Given the description of an element on the screen output the (x, y) to click on. 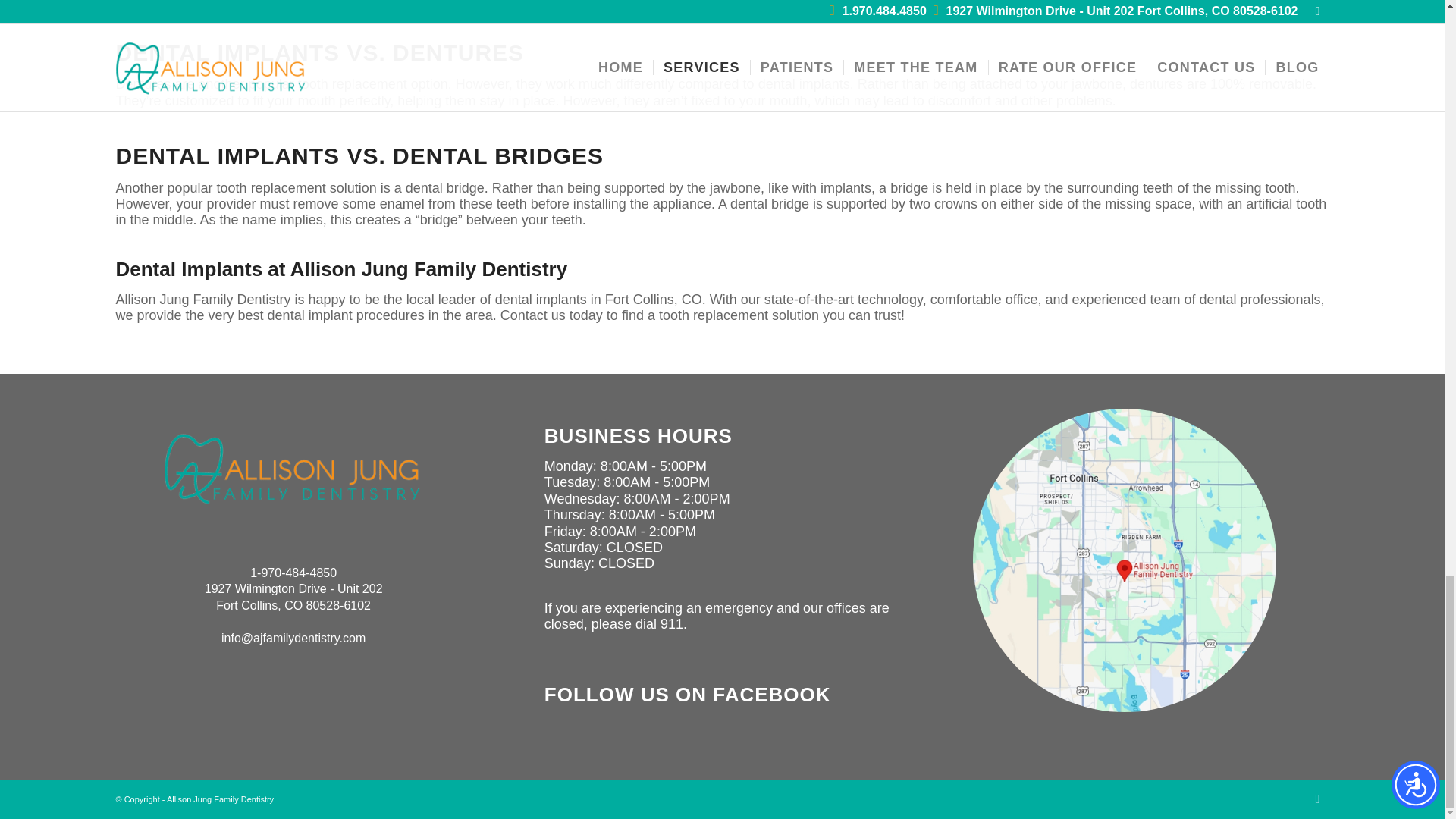
Facebook (1316, 798)
